Given the description of an element on the screen output the (x, y) to click on. 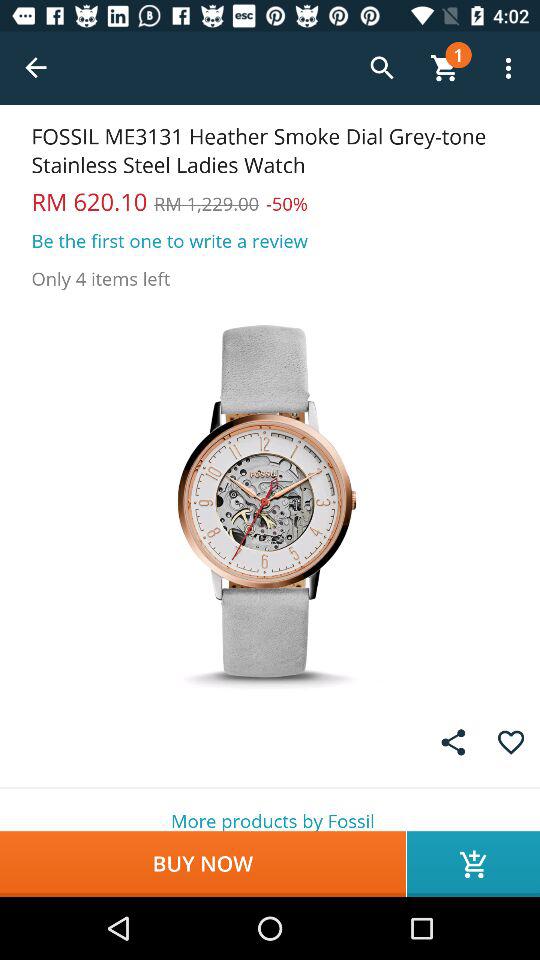
click icon next to the buy now icon (473, 863)
